Given the description of an element on the screen output the (x, y) to click on. 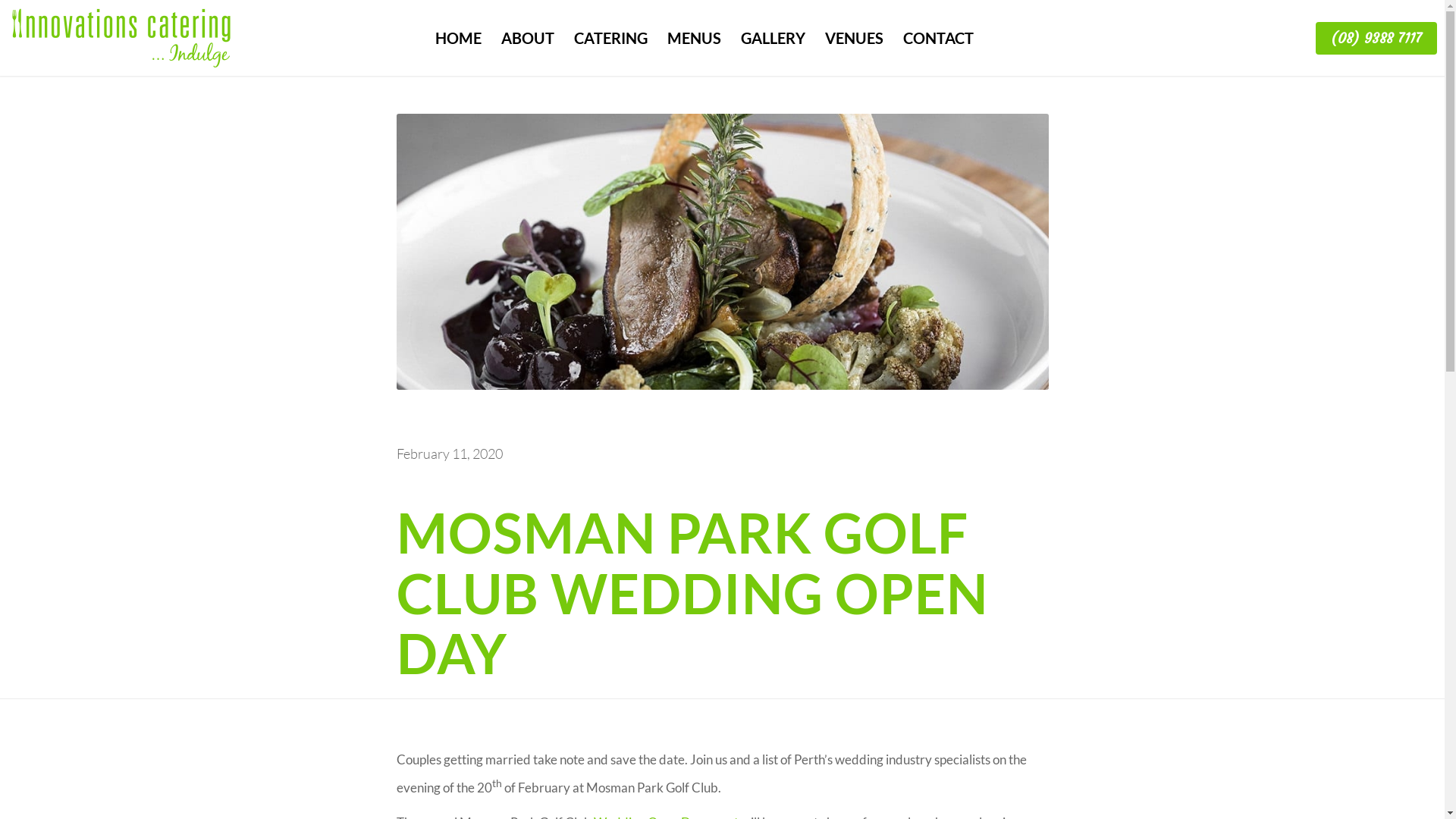
VENUES Element type: text (854, 45)
HOME Element type: text (458, 45)
MENUS Element type: text (694, 45)
GALLERY Element type: text (773, 45)
(08) 9388 7117 Element type: text (1376, 37)
CATERING Element type: text (610, 45)
ABOUT Element type: text (527, 45)
CONTACT Element type: text (938, 45)
0R0A0901 1000x423 Element type: hover (721, 251)
